Given the description of an element on the screen output the (x, y) to click on. 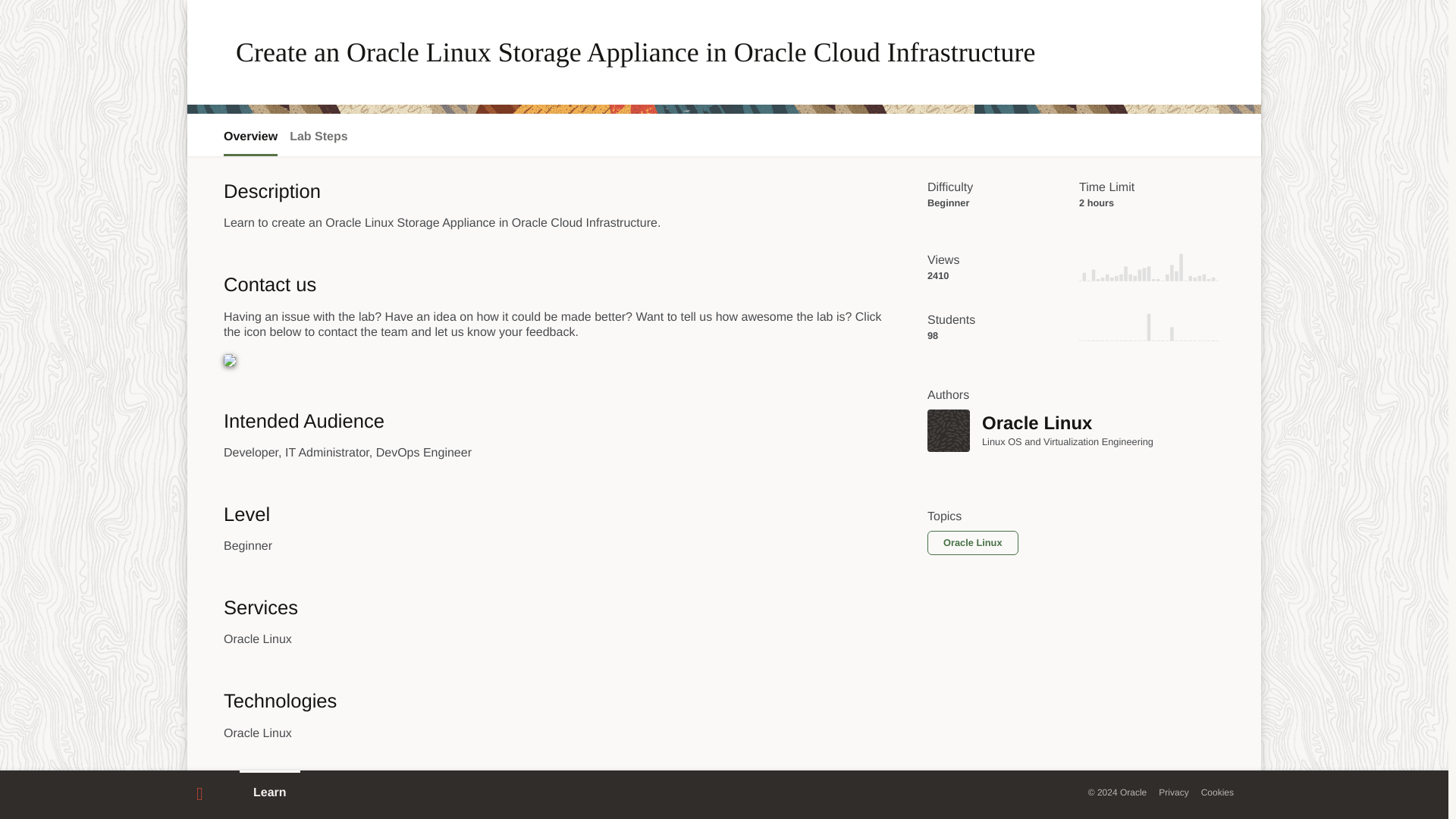
Oracle Linux (948, 430)
Learn (269, 793)
Lab Steps (318, 136)
Privacy (1173, 792)
Cookies (1217, 792)
Overview (251, 136)
